Given the description of an element on the screen output the (x, y) to click on. 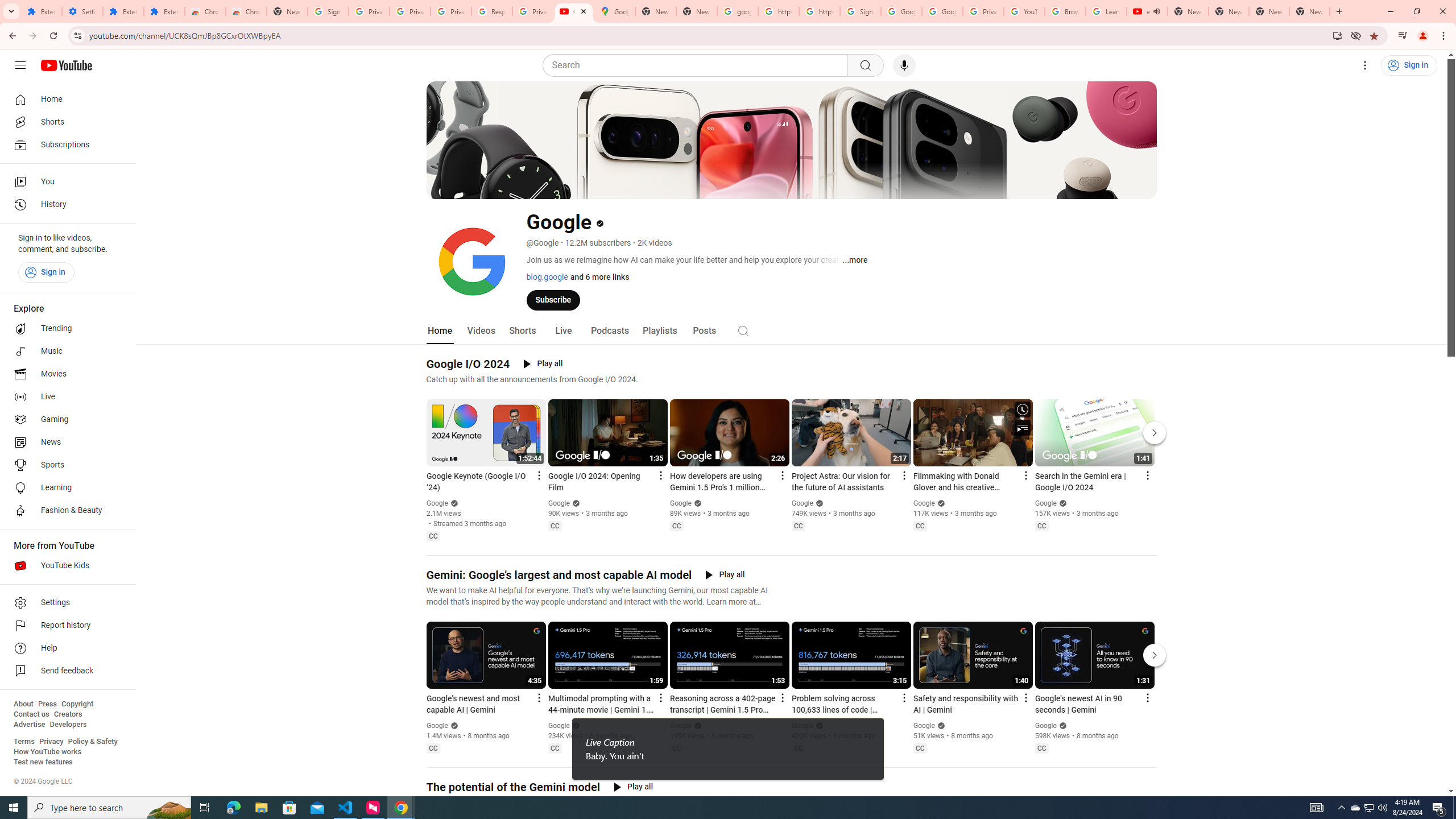
Chrome Web Store - Themes (246, 11)
Play all (633, 787)
Live (64, 396)
Subscriptions (64, 144)
Google I/O 2024 (467, 363)
Extensions (41, 11)
Live (562, 330)
Mute tab (1156, 10)
